Given the description of an element on the screen output the (x, y) to click on. 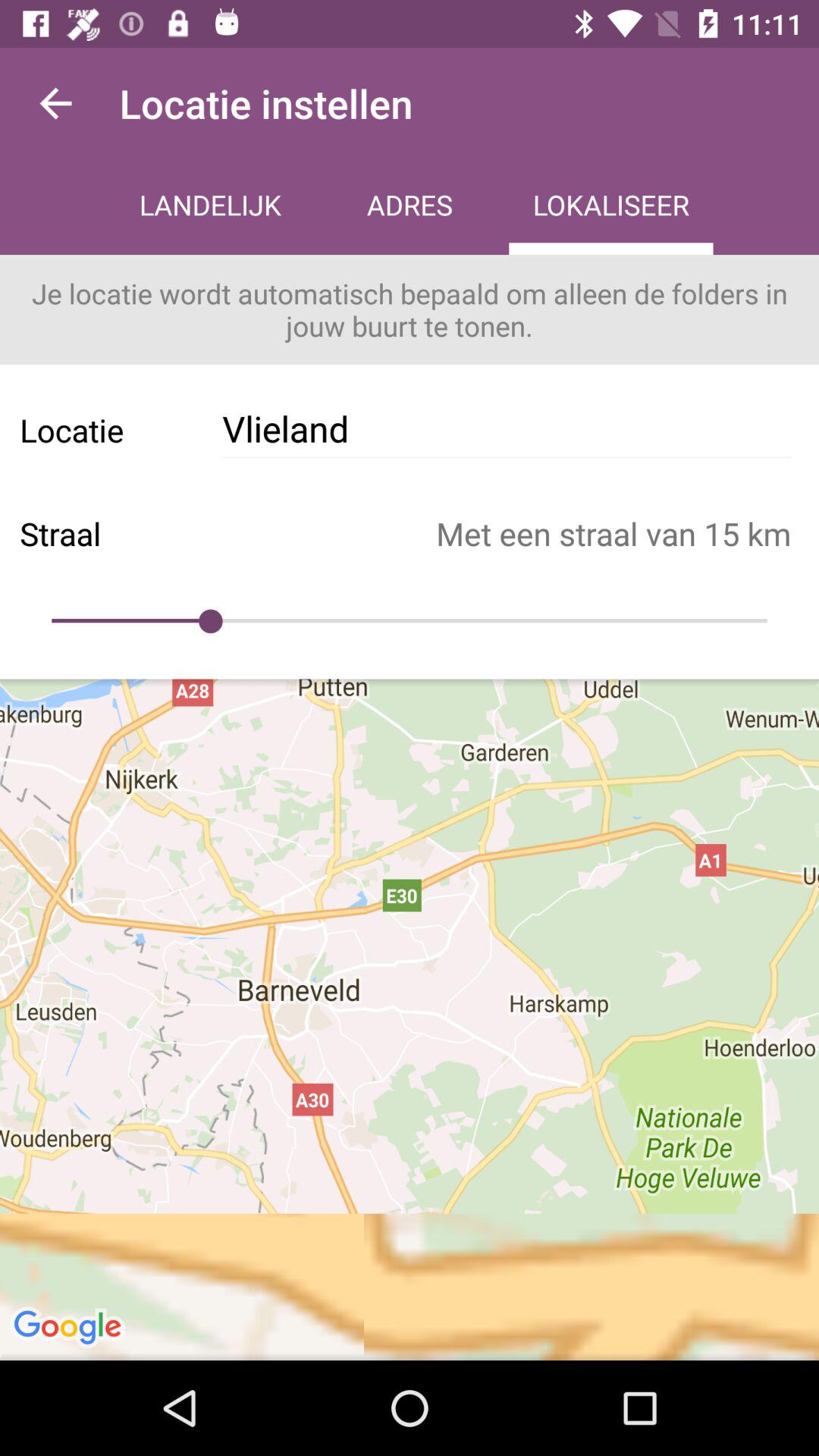
launch icon above the landelijk item (55, 103)
